Given the description of an element on the screen output the (x, y) to click on. 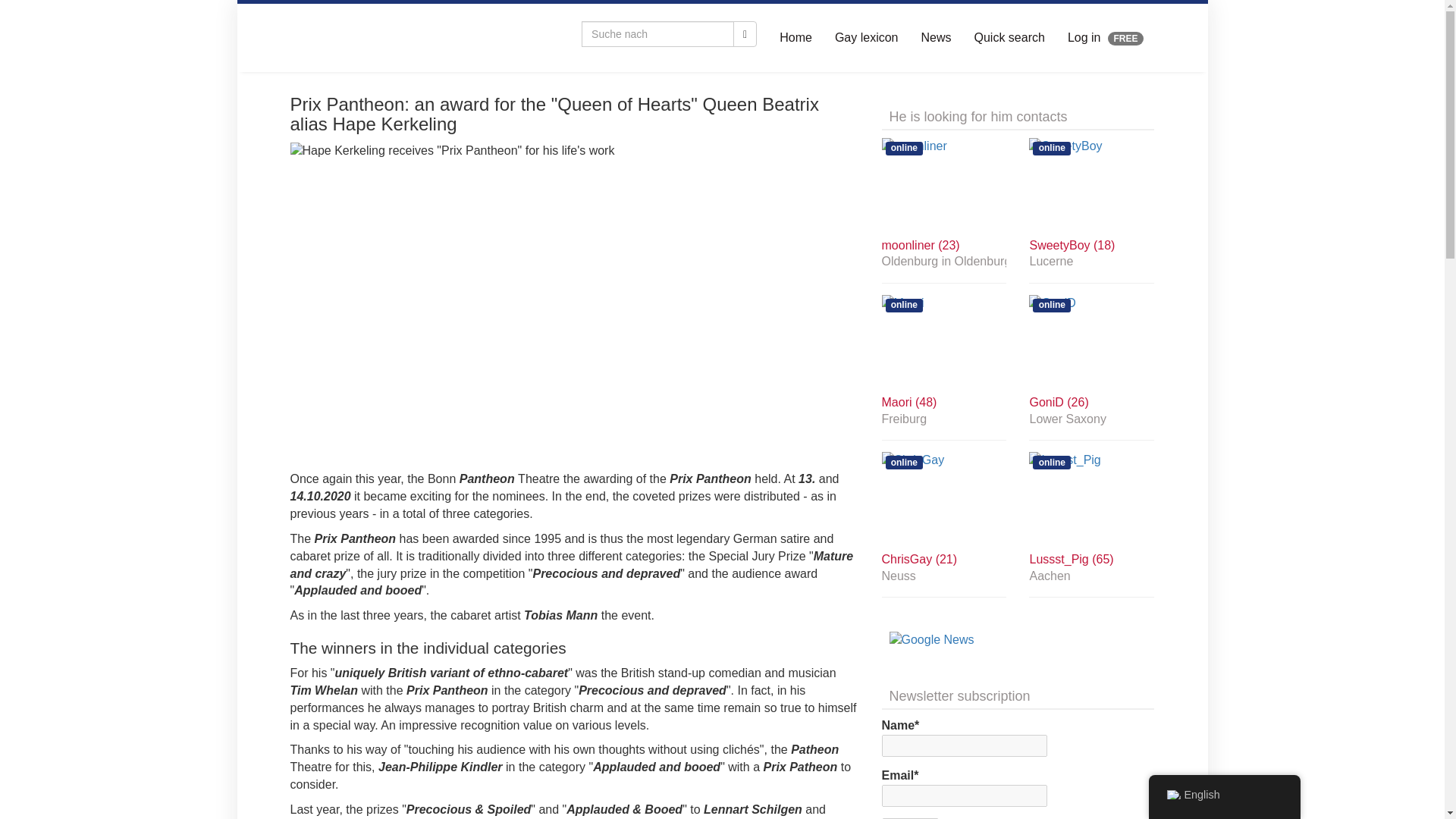
Neuss (943, 576)
online (943, 184)
Maori jetzt kennenlernen! (943, 341)
Quick search (1009, 37)
online (1091, 498)
News (936, 37)
Freiburg (943, 418)
online (1091, 341)
Lower Saxony (1091, 418)
Register (909, 818)
